Given the description of an element on the screen output the (x, y) to click on. 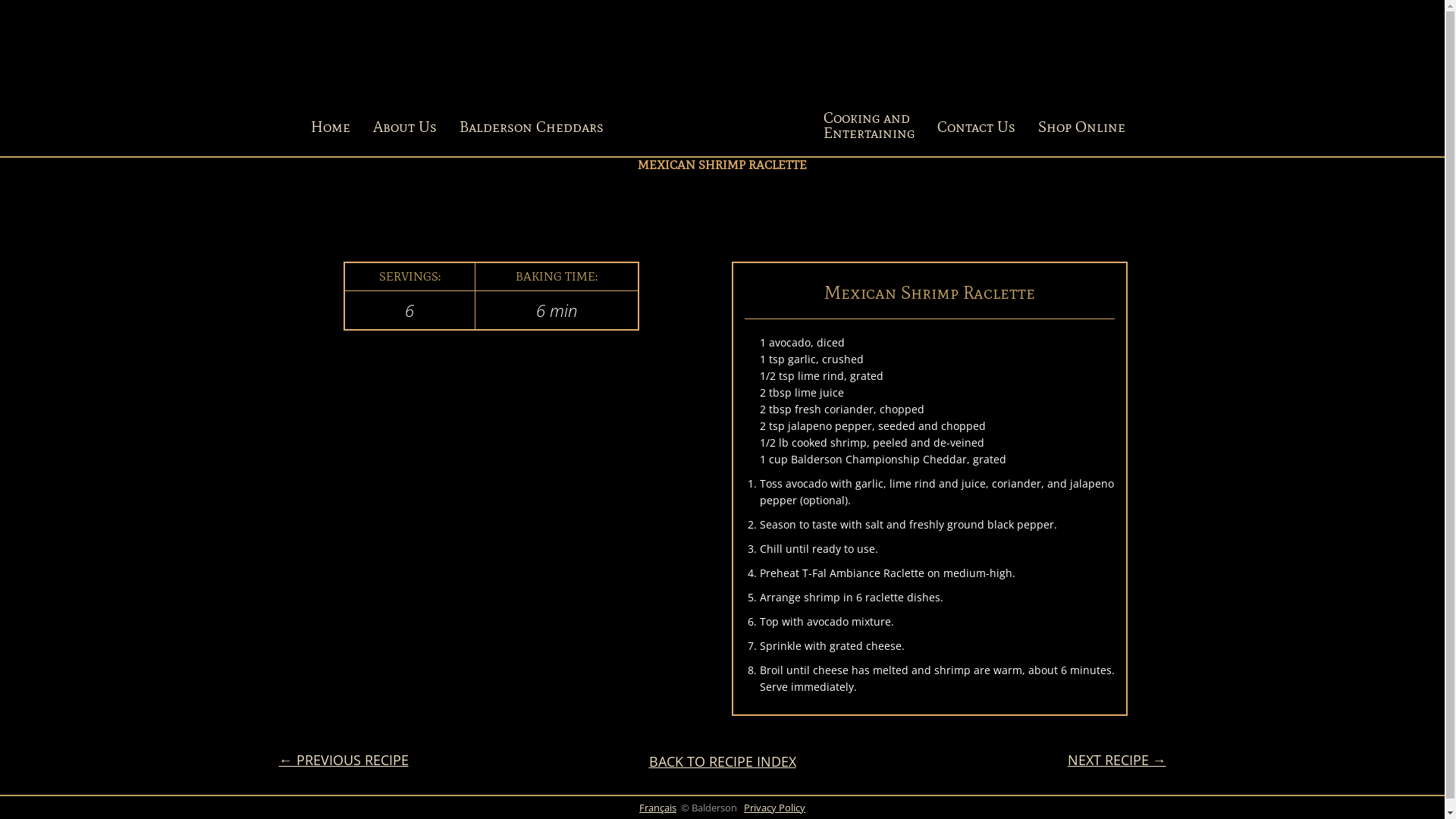
About Us Element type: text (403, 126)
Cooking and
Entertaining Element type: text (868, 126)
Balderson Cheddars Element type: text (530, 126)
Privacy Policy Element type: text (774, 807)
BACK TO RECIPE INDEX Element type: text (722, 760)
Home Element type: text (329, 126)
Shop Online Element type: text (1081, 126)
Contact Us Element type: text (975, 126)
Skip to main content Element type: text (0, 0)
